Given the description of an element on the screen output the (x, y) to click on. 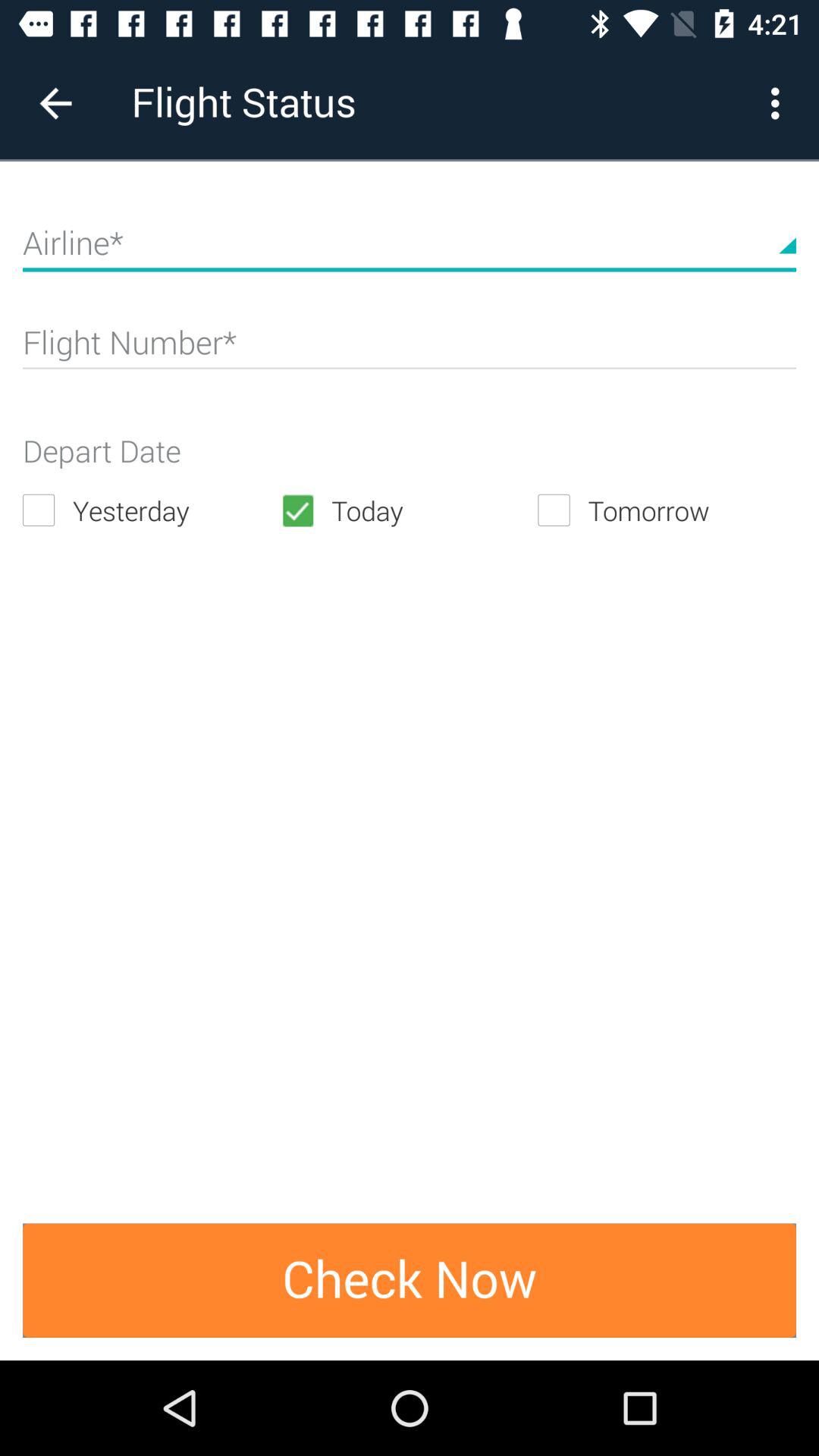
enter airline (409, 249)
